Given the description of an element on the screen output the (x, y) to click on. 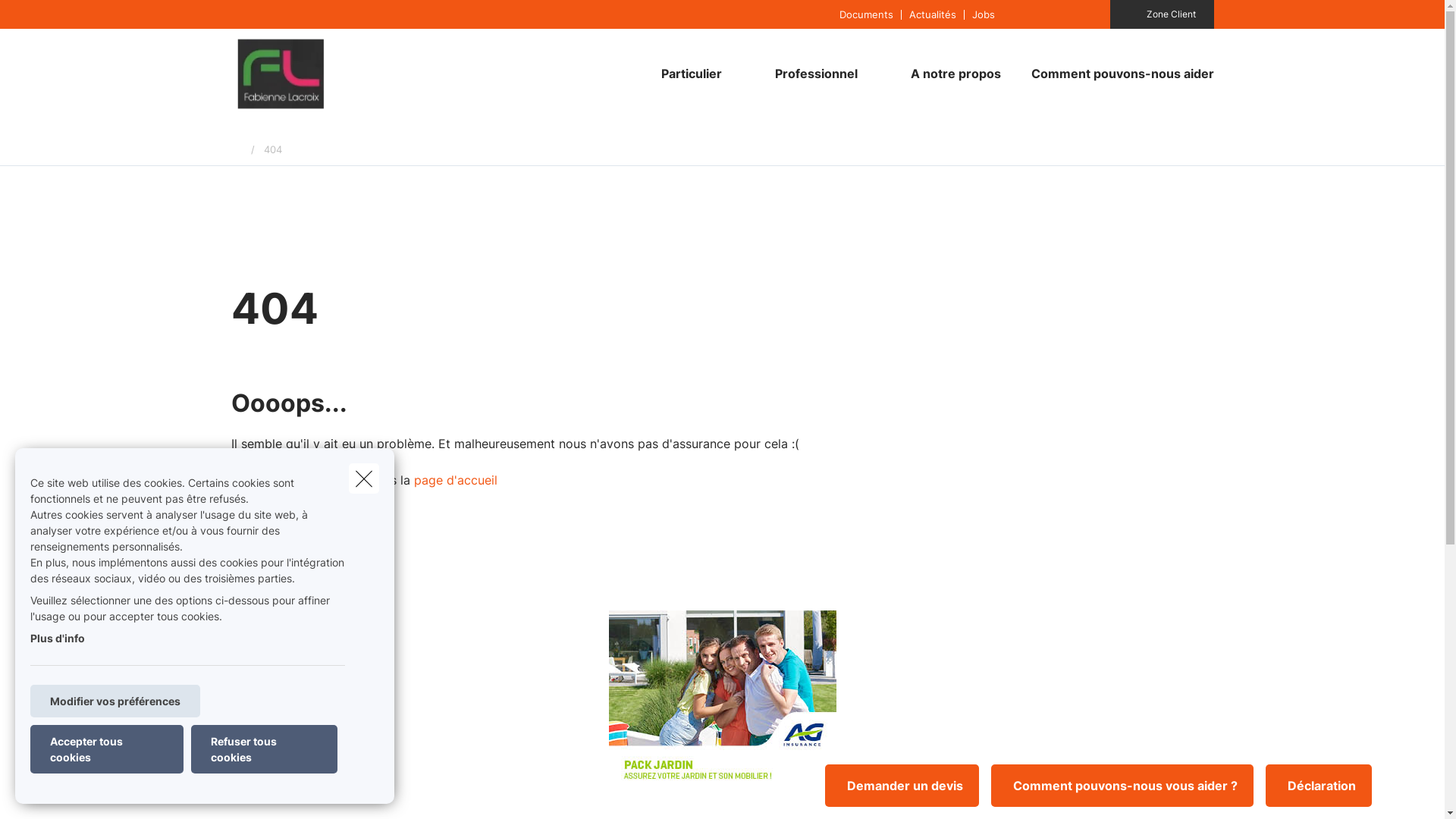
Rechercher Element type: text (54, 18)
page d'accueil Element type: text (455, 479)
Plus d'info Element type: text (57, 637)
Comment pouvons-nous vous aider ? Element type: text (1122, 785)
Demander un devis Element type: text (902, 785)
Zone Client Element type: text (1162, 14)
Accepter tous cookies Element type: text (106, 748)
Refuser tous cookies Element type: text (264, 748)
A notre propos Element type: text (954, 73)
Particulier Element type: text (685, 73)
Professionnel Element type: text (810, 73)
Comment pouvons-nous aider Element type: text (1115, 73)
Jobs Element type: text (982, 13)
Documents Element type: text (865, 13)
